Given the description of an element on the screen output the (x, y) to click on. 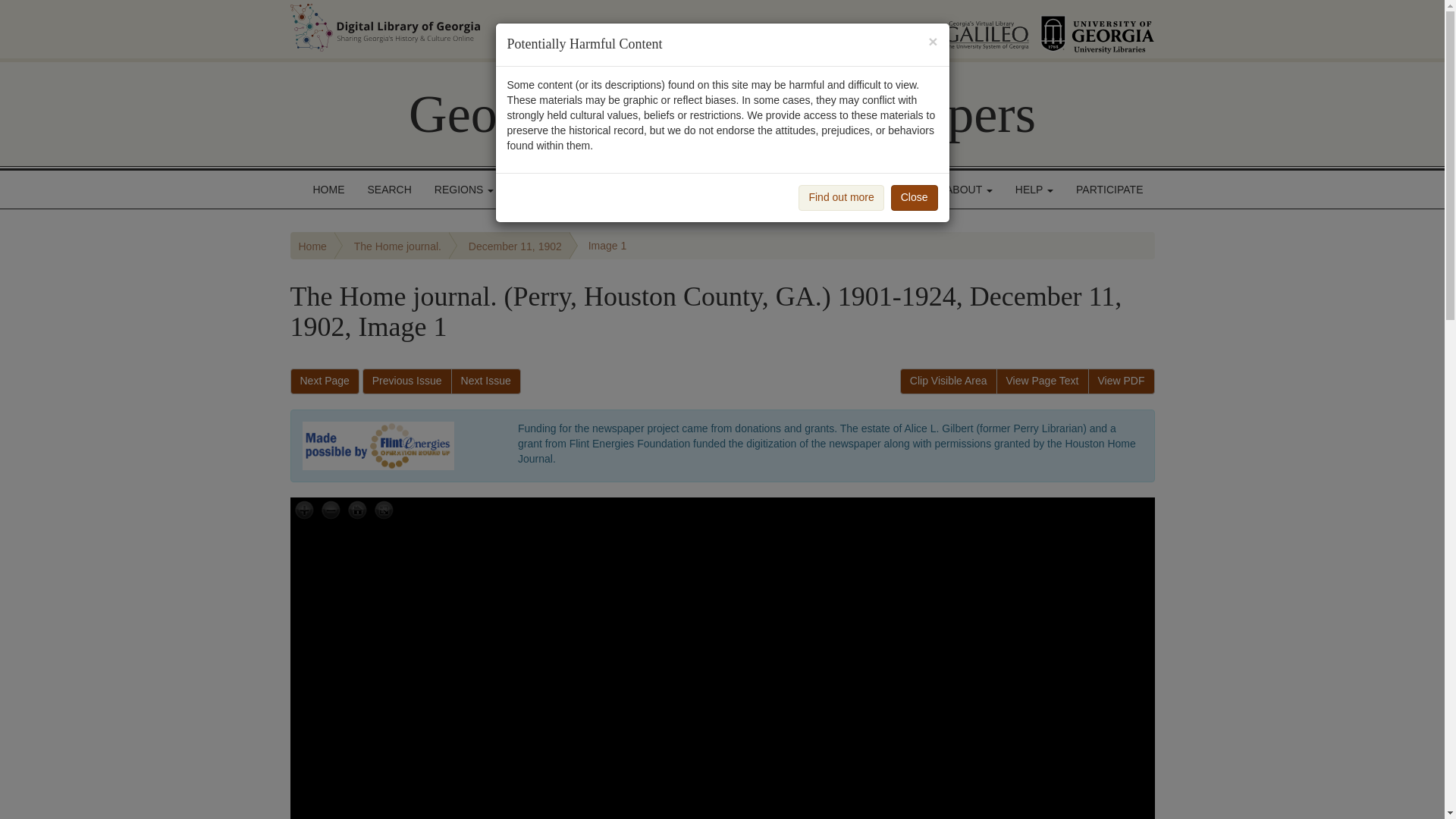
BROWSE (545, 189)
GALILEO Homepage Link (968, 29)
Georgia Historic Newspapers (722, 114)
NEWS (901, 189)
ABOUT (969, 189)
REGIONS (464, 189)
Zoom out (330, 510)
UGA Libraries Homepage Link (1097, 29)
HELP (1034, 189)
Toggle full page (382, 510)
